Given the description of an element on the screen output the (x, y) to click on. 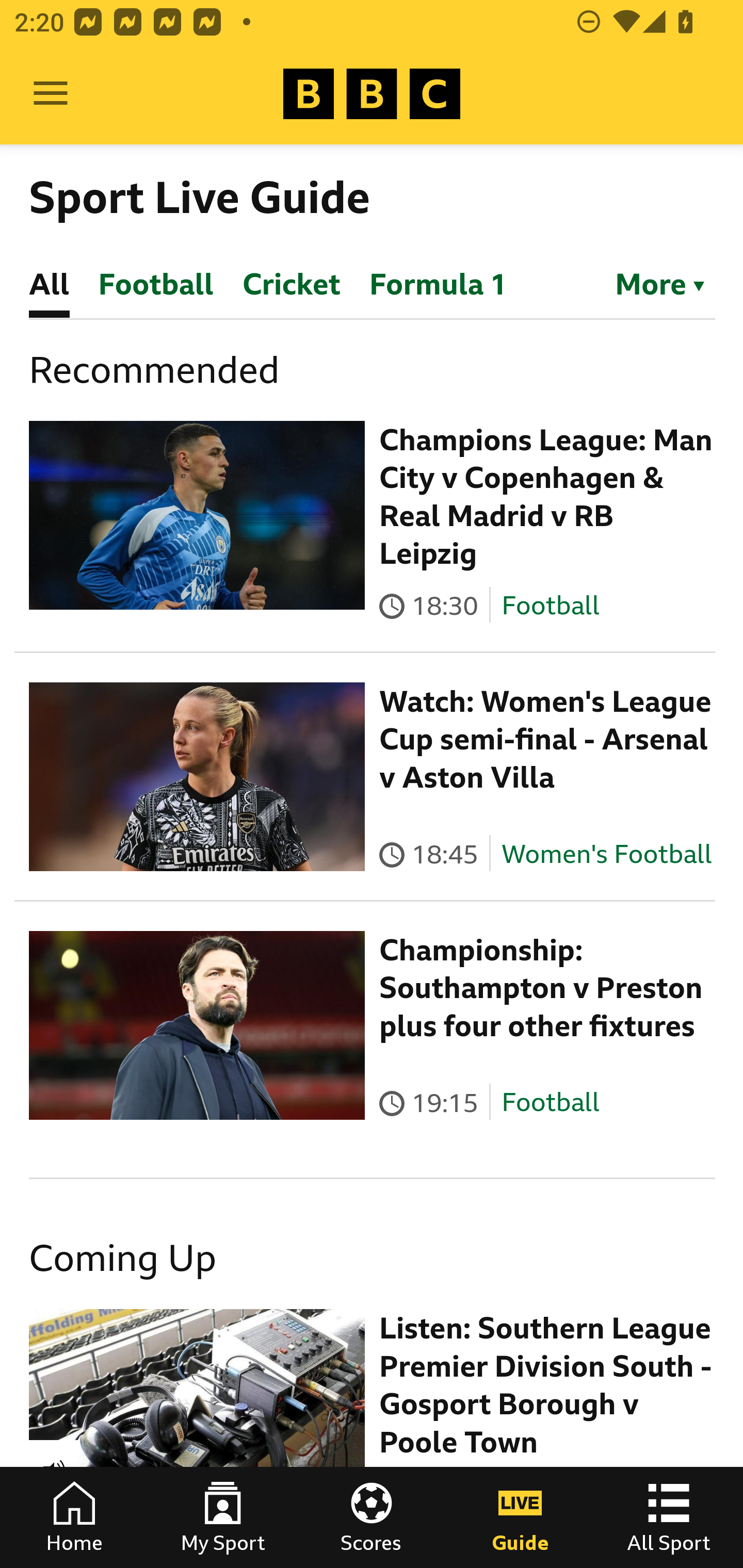
Open Menu (50, 93)
Football (550, 604)
Women's Football (606, 853)
Football (550, 1102)
Home (74, 1517)
My Sport (222, 1517)
Scores (371, 1517)
All Sport (668, 1517)
